Given the description of an element on the screen output the (x, y) to click on. 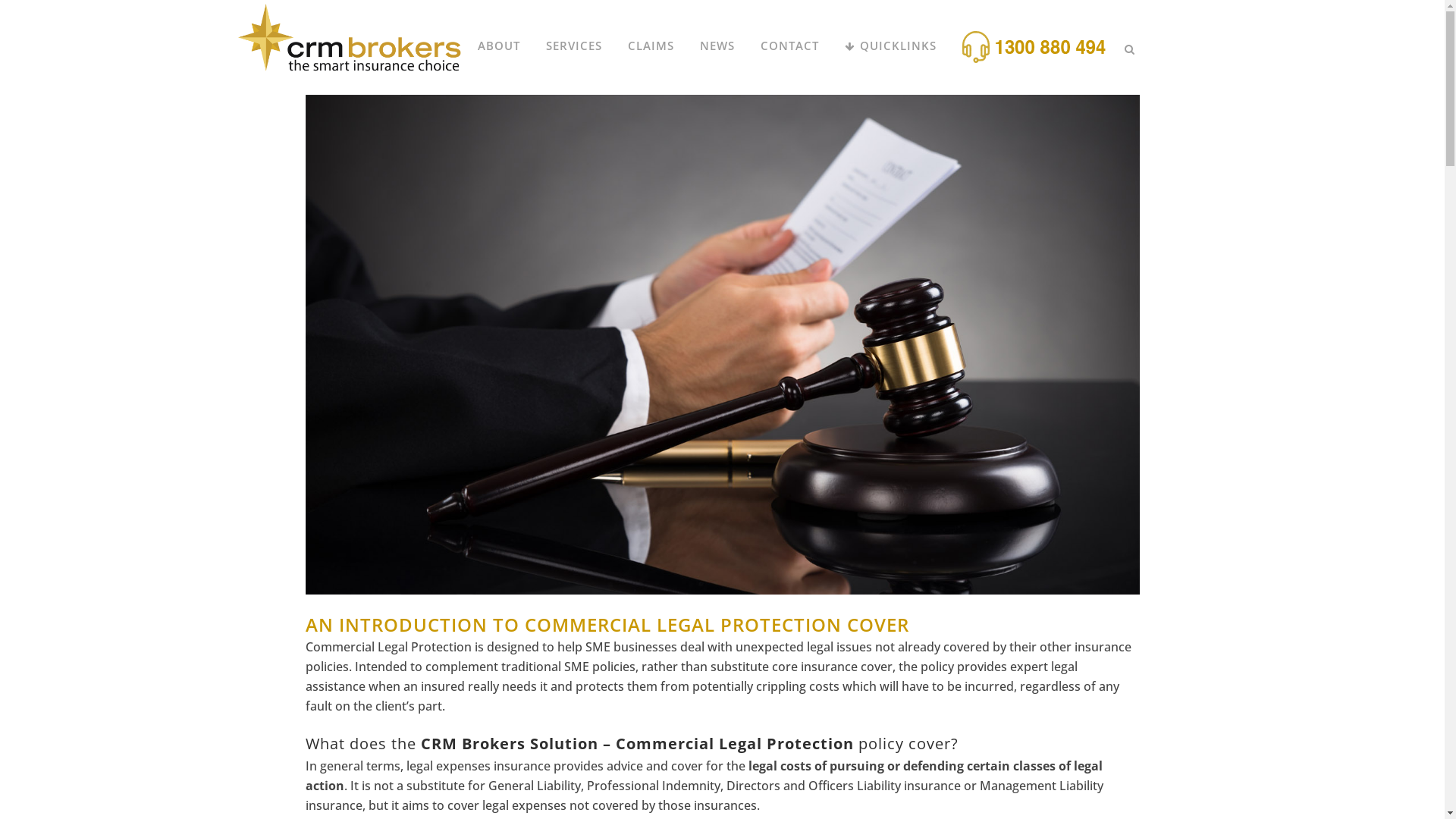
CONTACT Element type: text (789, 45)
QUICKLINKS Element type: text (889, 45)
NEWS Element type: text (717, 45)
SERVICES Element type: text (573, 45)
CLAIMS Element type: text (650, 45)
ABOUT Element type: text (498, 45)
